Given the description of an element on the screen output the (x, y) to click on. 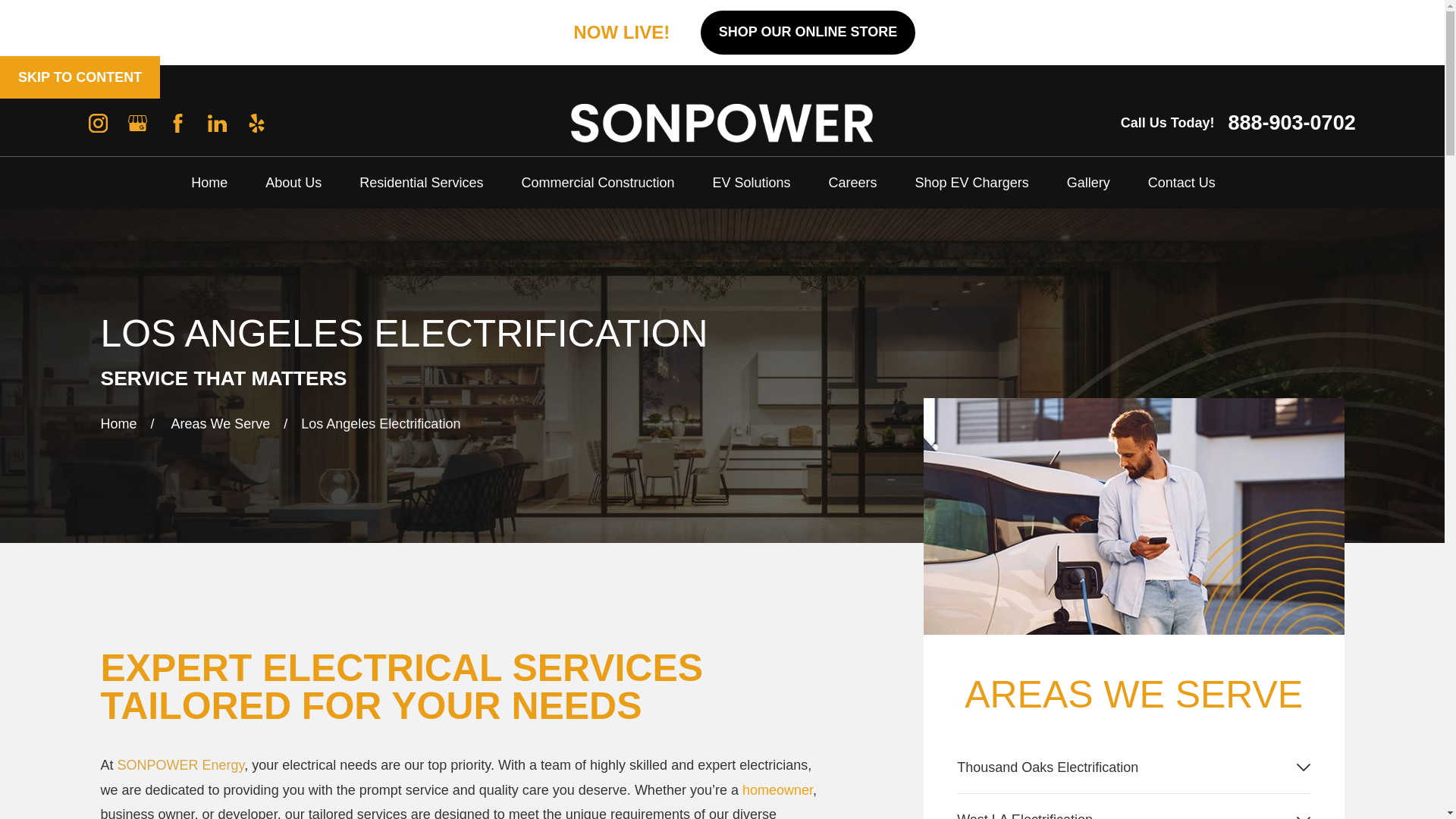
Yelp (256, 122)
Facebook (177, 122)
Home (118, 423)
Google Business Profile (137, 122)
888-903-0702 (1291, 123)
Shop EV Chargers (972, 182)
SHOP OUR ONLINE STORE (807, 32)
Areas We Serve (220, 423)
Go Home (118, 423)
Residential Services (421, 182)
